Given the description of an element on the screen output the (x, y) to click on. 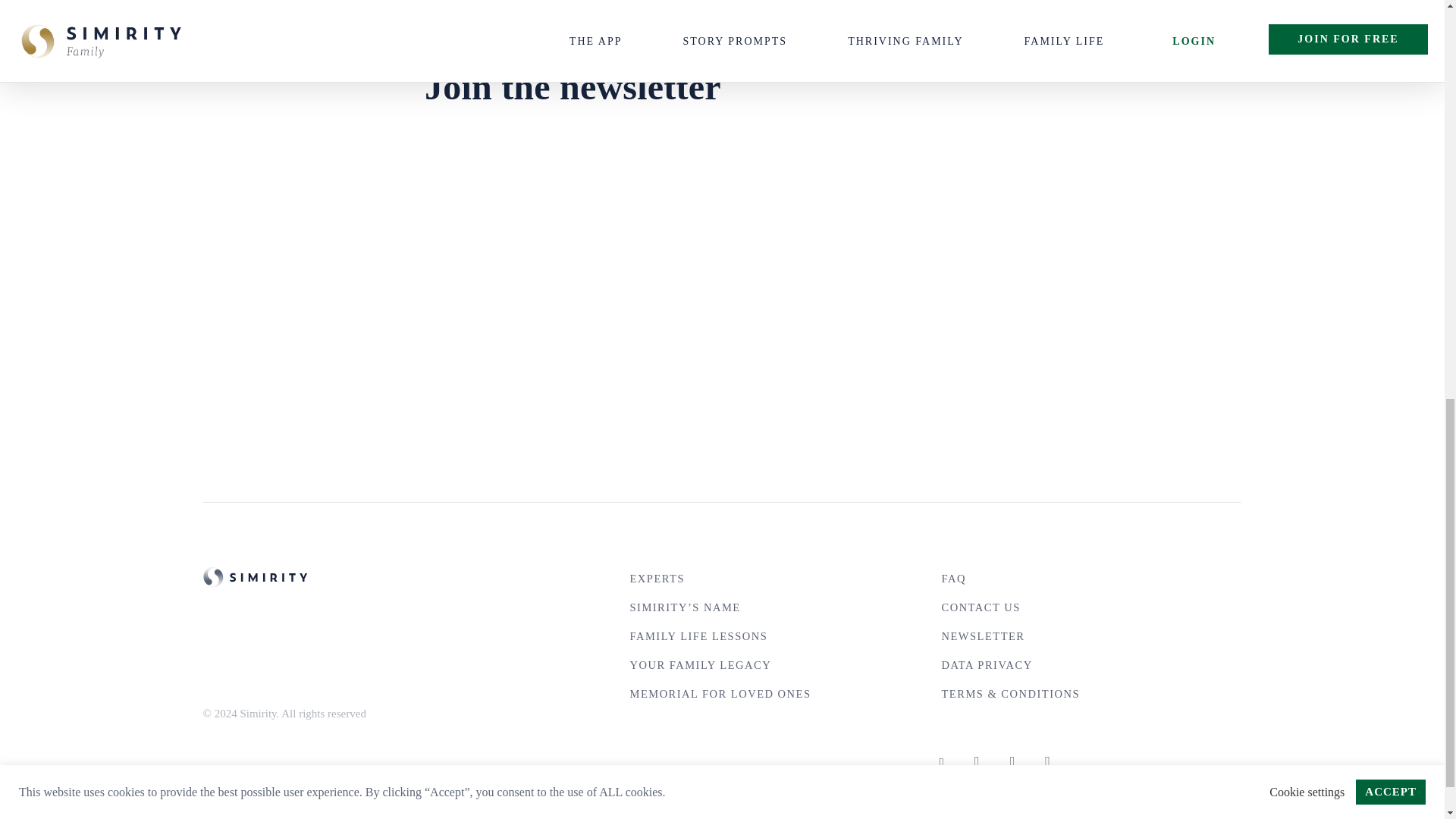
Form 0 (721, 253)
